Given the description of an element on the screen output the (x, y) to click on. 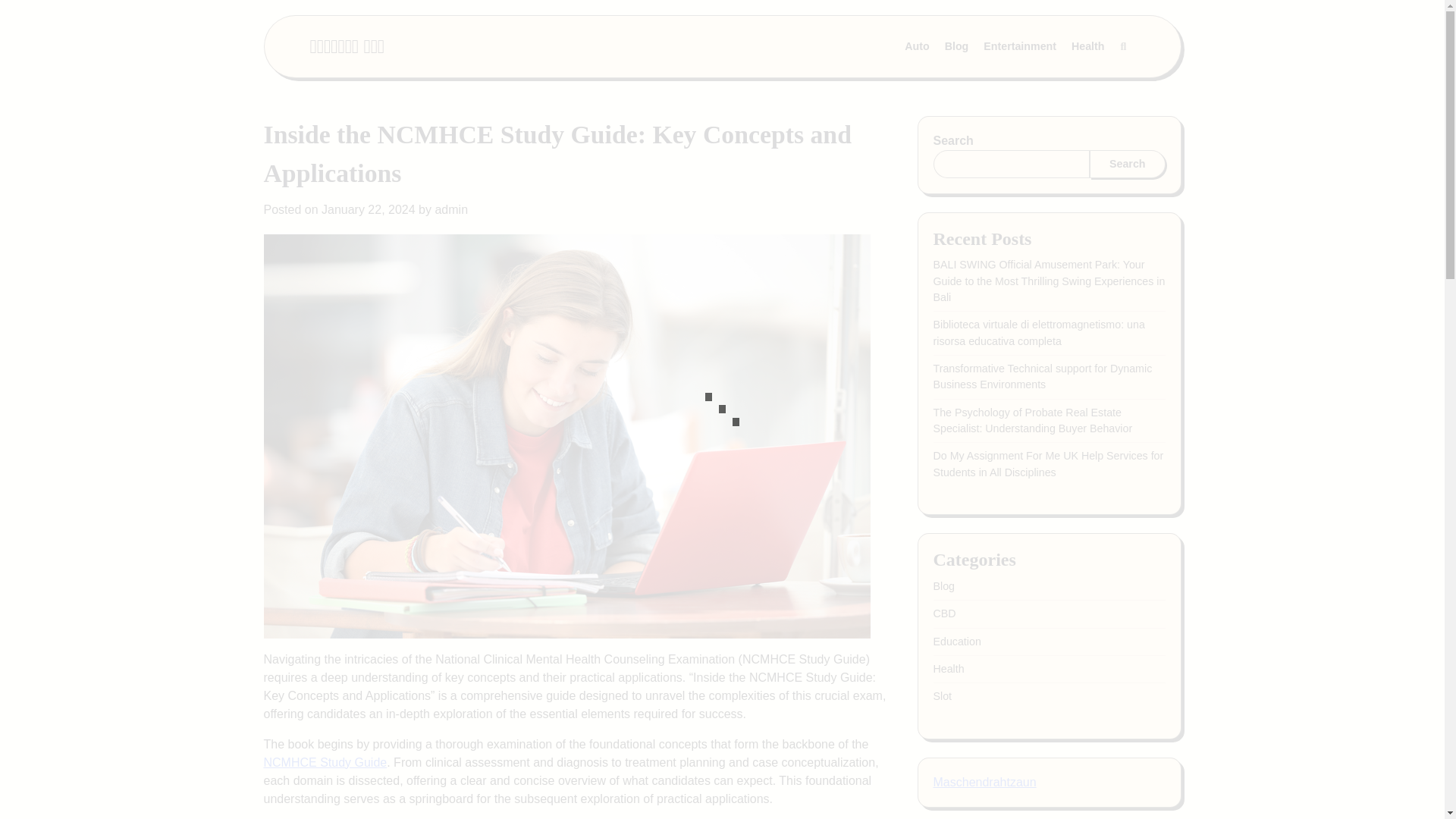
admin (450, 209)
Maschendrahtzaun (984, 781)
CBD (944, 613)
Auto (916, 46)
NCMHCE Study Guide (325, 762)
Health (1088, 46)
January 22, 2024 (367, 209)
Entertainment (1019, 46)
Health (948, 668)
Blog (956, 46)
Education (956, 641)
